Given the description of an element on the screen output the (x, y) to click on. 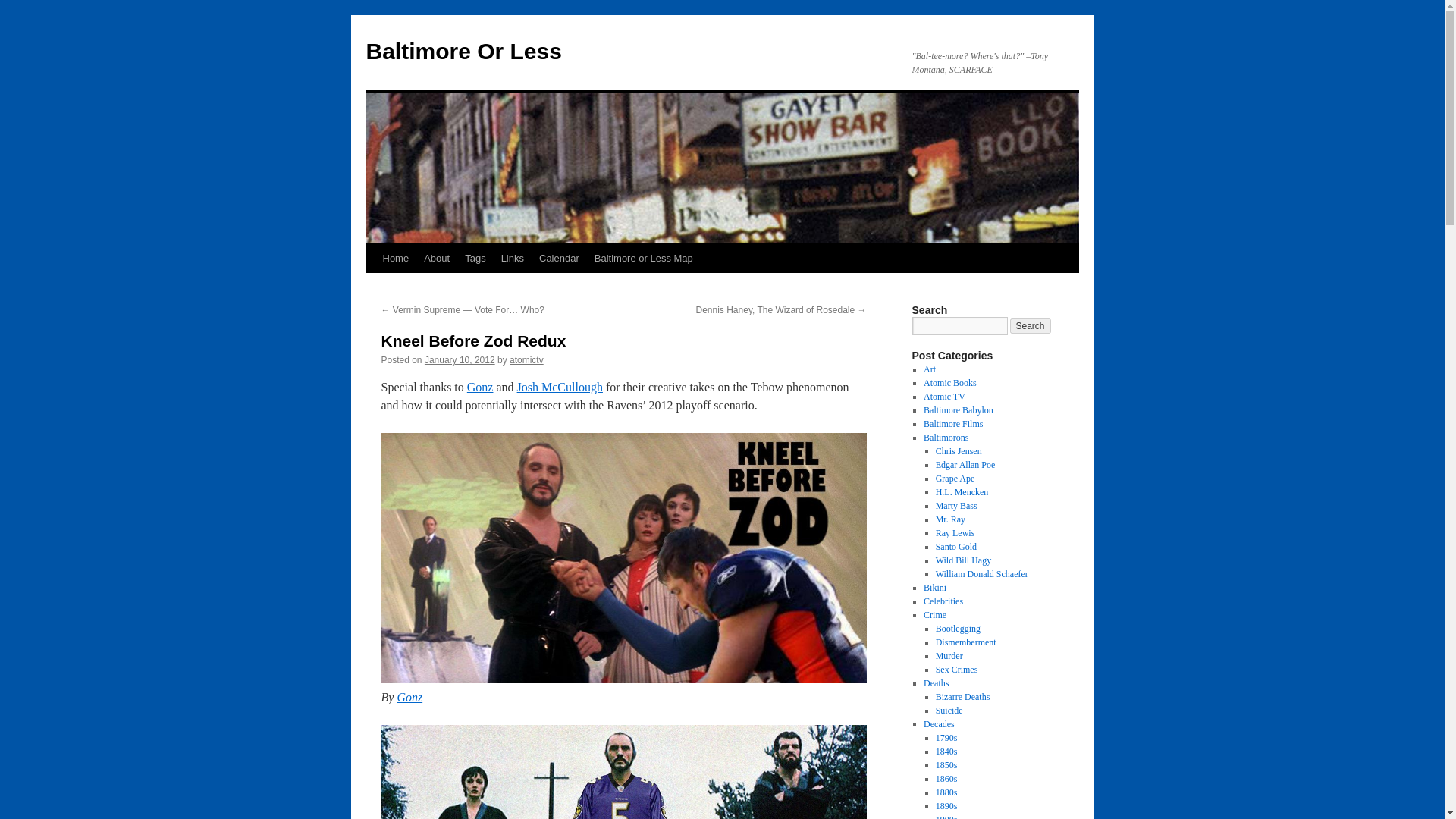
Baltimore Or Less (462, 50)
View all posts by atomictv (526, 359)
Edgar Allan Poe (965, 464)
Atomic Books (949, 382)
Tags (475, 258)
Art (929, 368)
Links (512, 258)
About (436, 258)
Gonz (409, 697)
January 10, 2012 (460, 359)
